Given the description of an element on the screen output the (x, y) to click on. 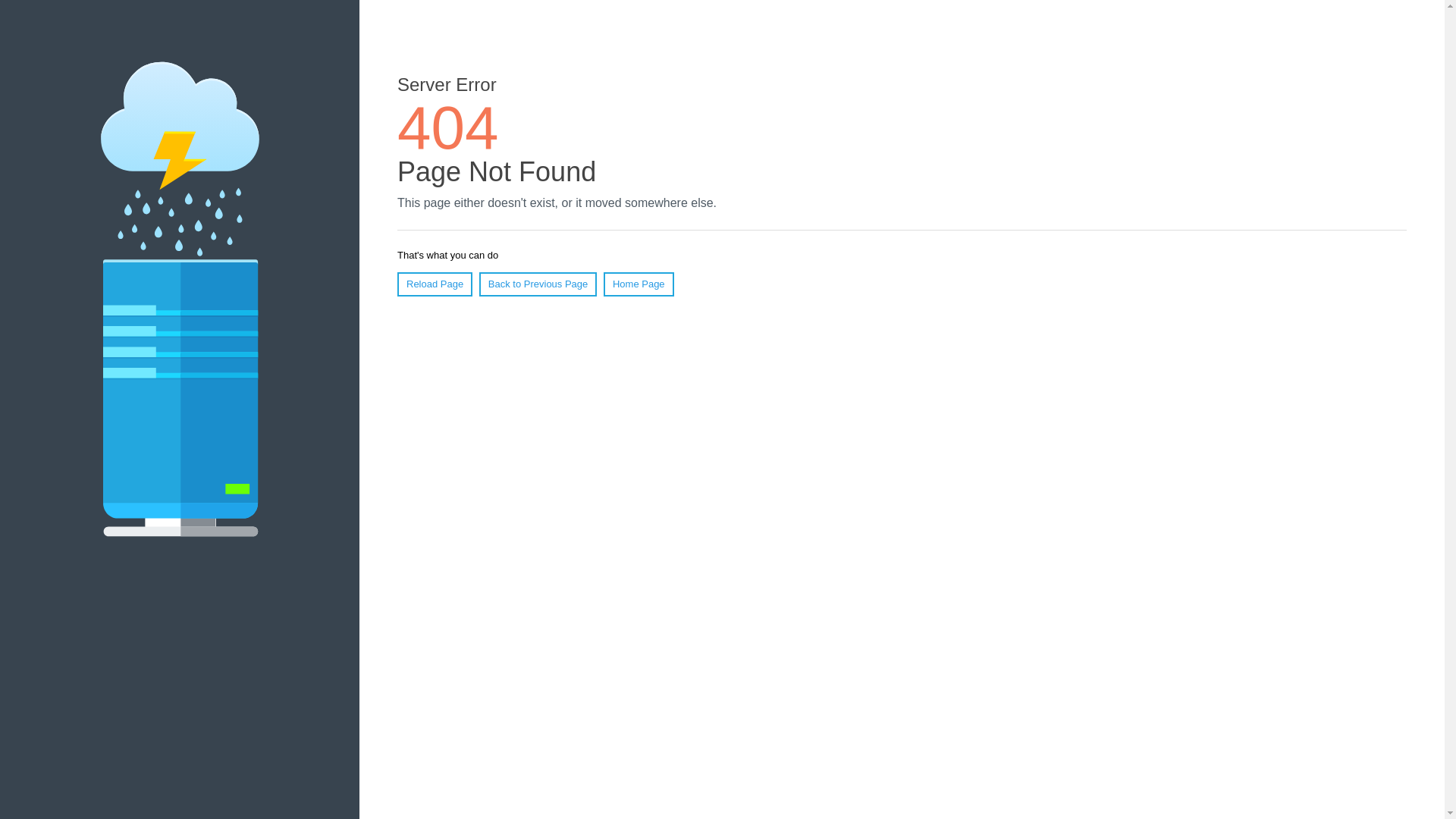
Reload Page Element type: text (434, 284)
Home Page Element type: text (638, 284)
Back to Previous Page Element type: text (538, 284)
